Given the description of an element on the screen output the (x, y) to click on. 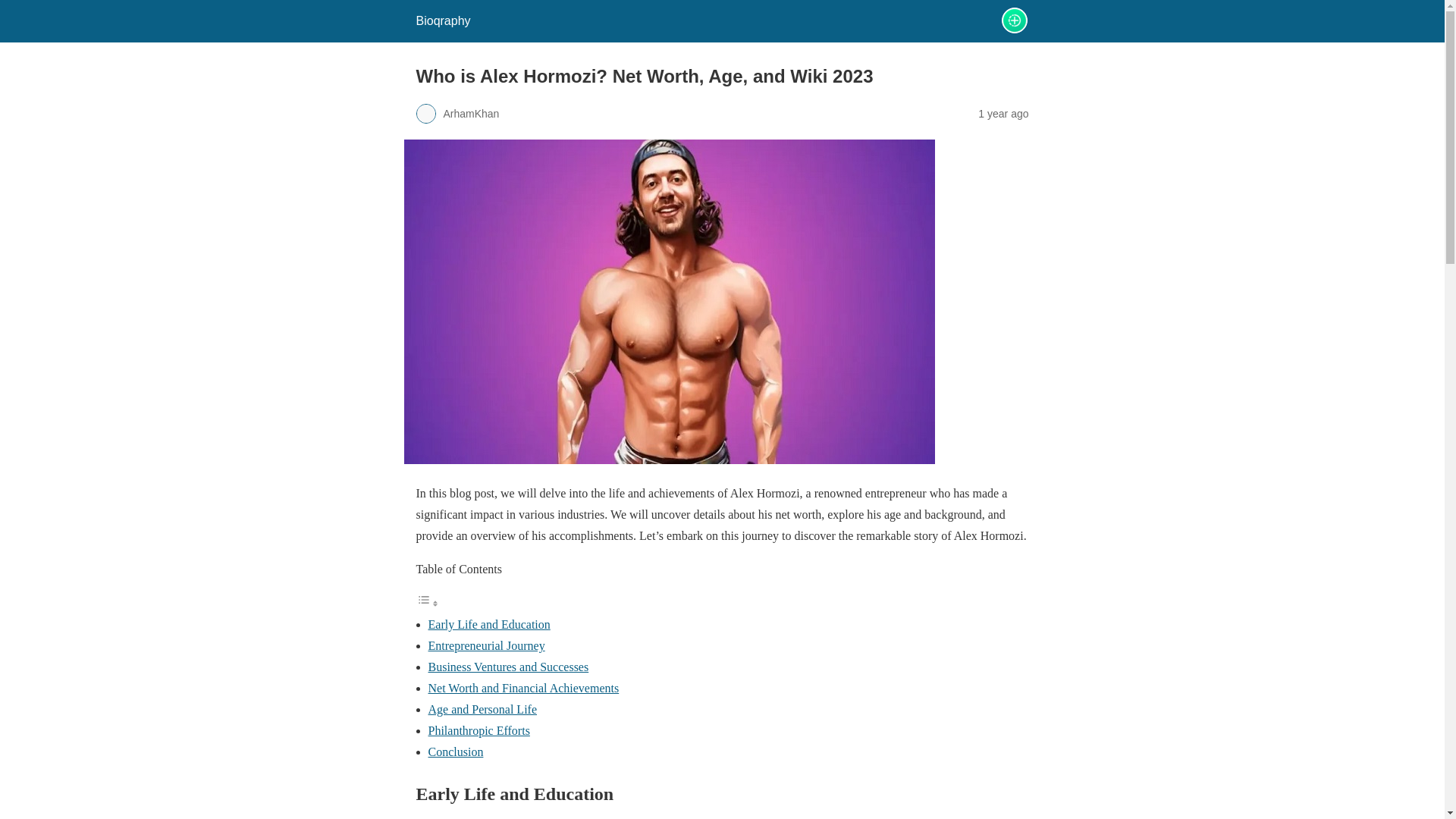
Early Life and Education (489, 624)
Net Worth and Financial Achievements (523, 687)
Entrepreneurial Journey (486, 645)
Conclusion (455, 751)
Conclusion (455, 751)
Entrepreneurial Journey (486, 645)
Business Ventures and Successes (508, 666)
Age and Personal Life (482, 708)
Philanthropic Efforts (478, 730)
Net Worth and Financial Achievements (523, 687)
